Given the description of an element on the screen output the (x, y) to click on. 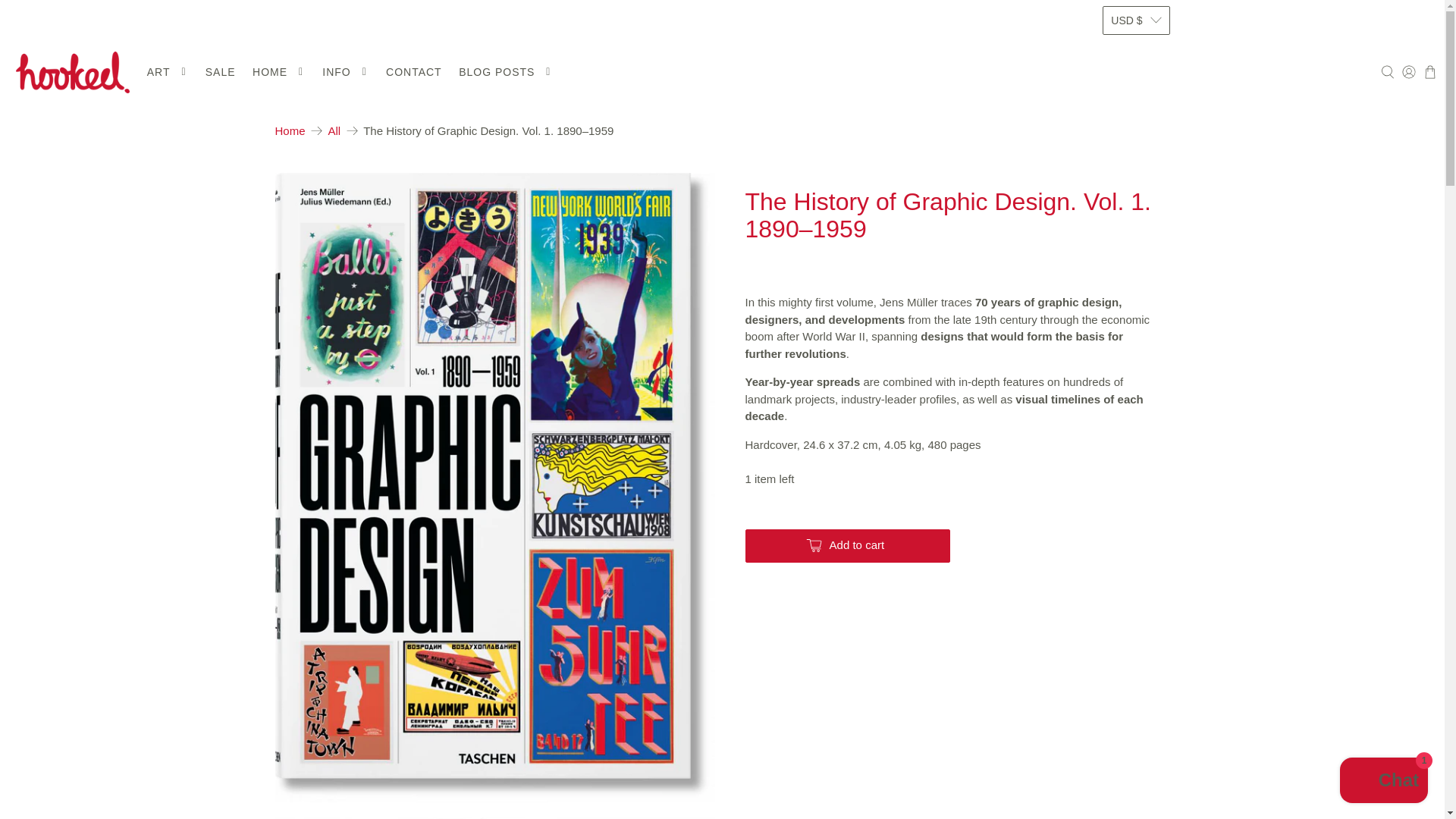
Hooked Gallery (72, 72)
USD (1135, 81)
ART (167, 72)
HOME (279, 72)
Shopify online store chat (1383, 781)
Hooked Gallery (289, 130)
SALE (220, 72)
GBP (1135, 53)
